Given the description of an element on the screen output the (x, y) to click on. 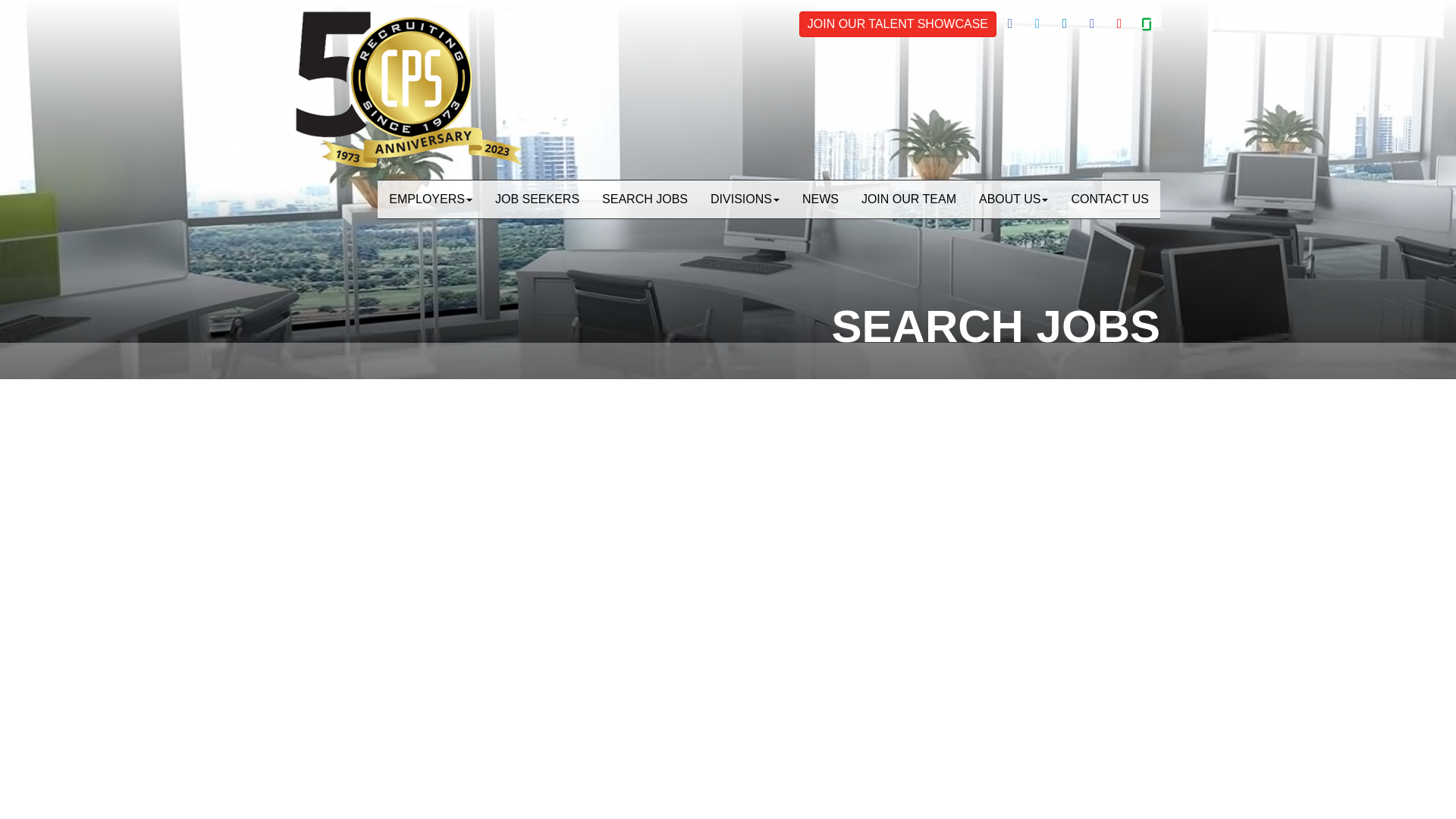
Instagram (1091, 23)
Visit our page on Glassdoor (1146, 23)
Follow us on Instagram (1091, 23)
CPS, Inc. (344, 20)
DIVISIONS (745, 68)
NEWS (819, 68)
EMPLOYERS (430, 68)
CONTACT US (1109, 68)
Like us on Facebook (1009, 23)
Watch us on YouTube (1118, 23)
